Given the description of an element on the screen output the (x, y) to click on. 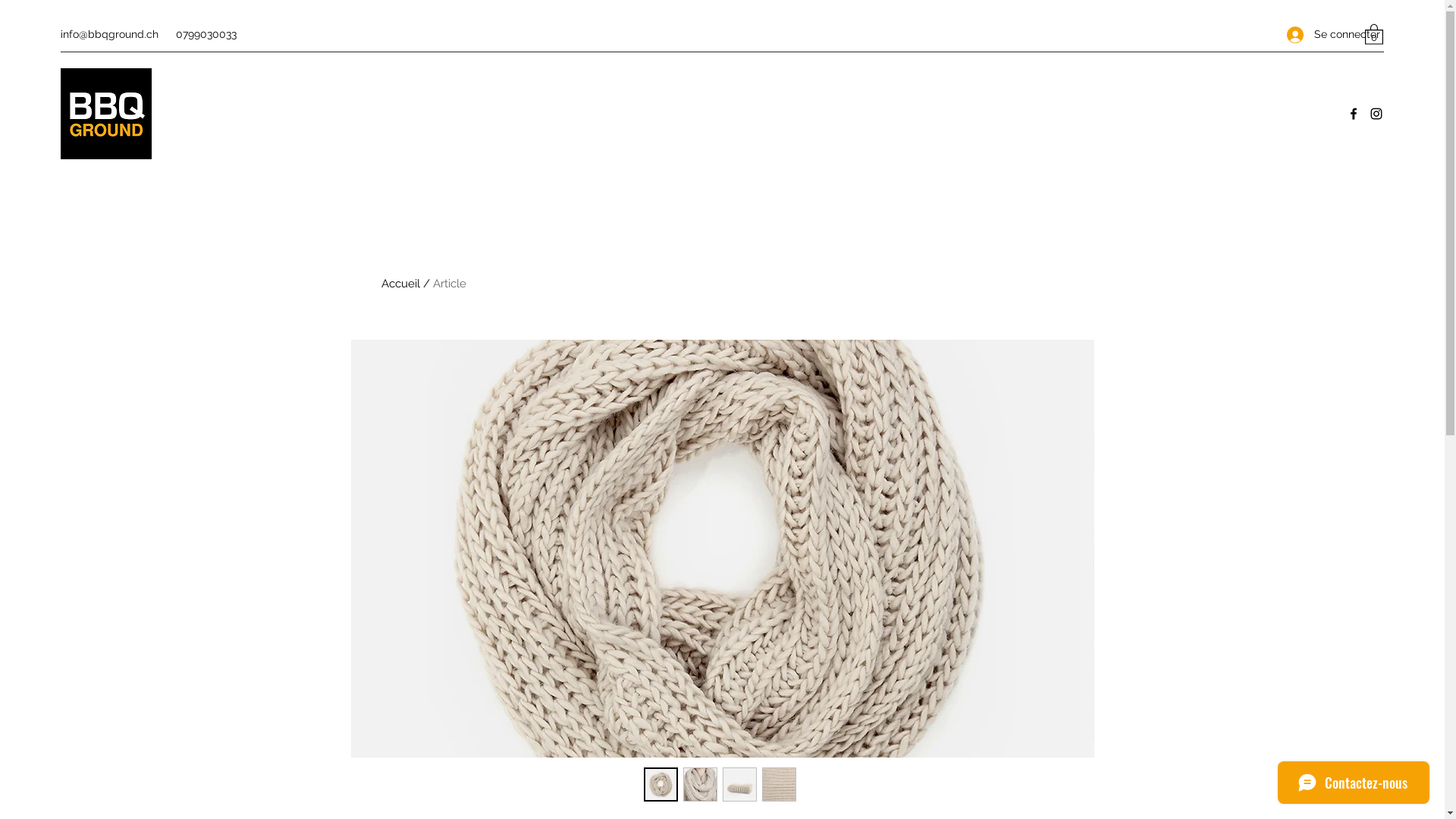
Article Element type: text (448, 283)
Accueil Element type: text (399, 283)
info@bbqground.ch Element type: text (109, 34)
Se connecter Element type: text (1317, 34)
0 Element type: text (1374, 33)
